Given the description of an element on the screen output the (x, y) to click on. 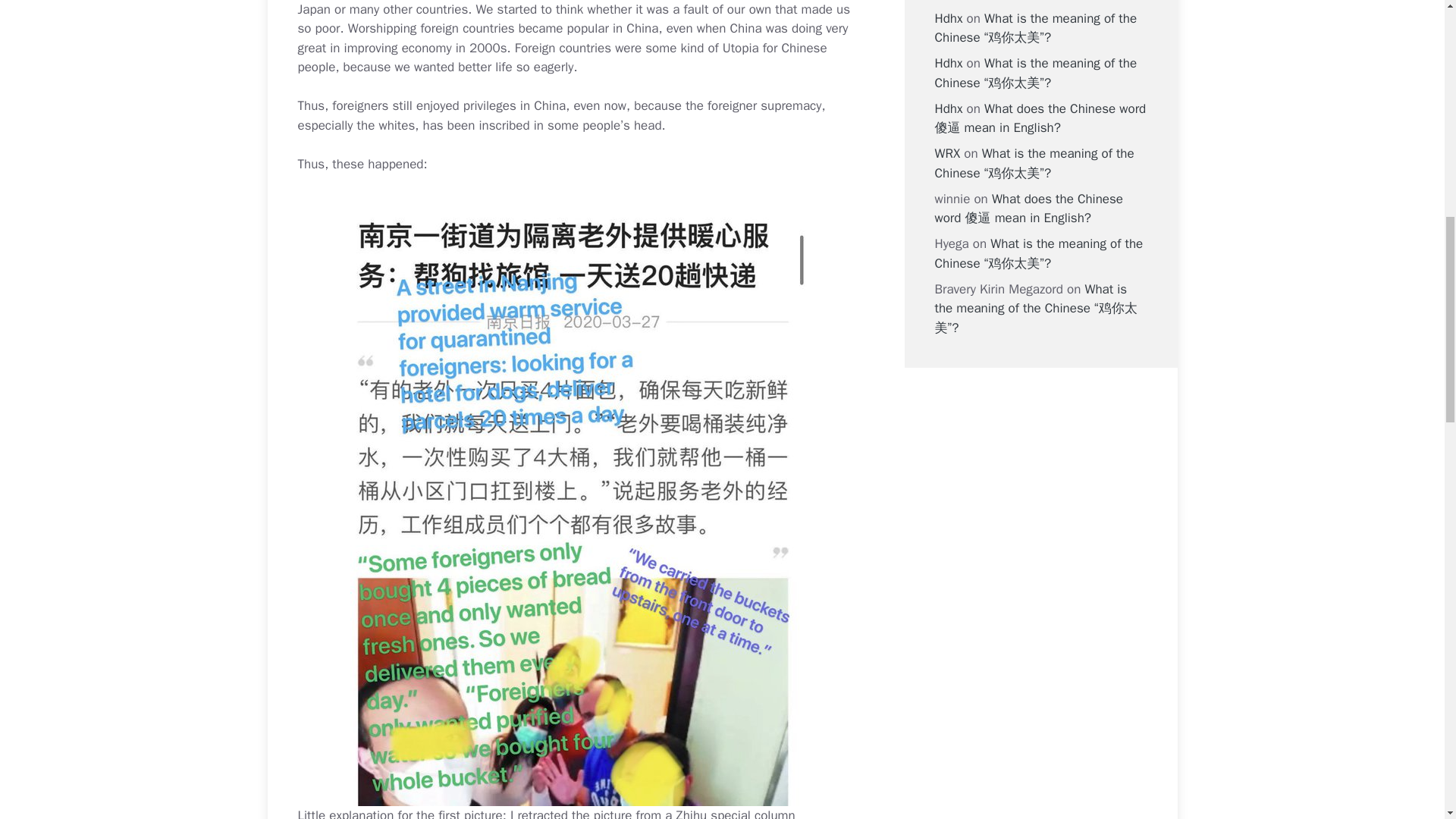
Hdhx (948, 107)
Hdhx (948, 63)
WRX (946, 153)
Hdhx (948, 18)
Scroll back to top (1406, 720)
